Given the description of an element on the screen output the (x, y) to click on. 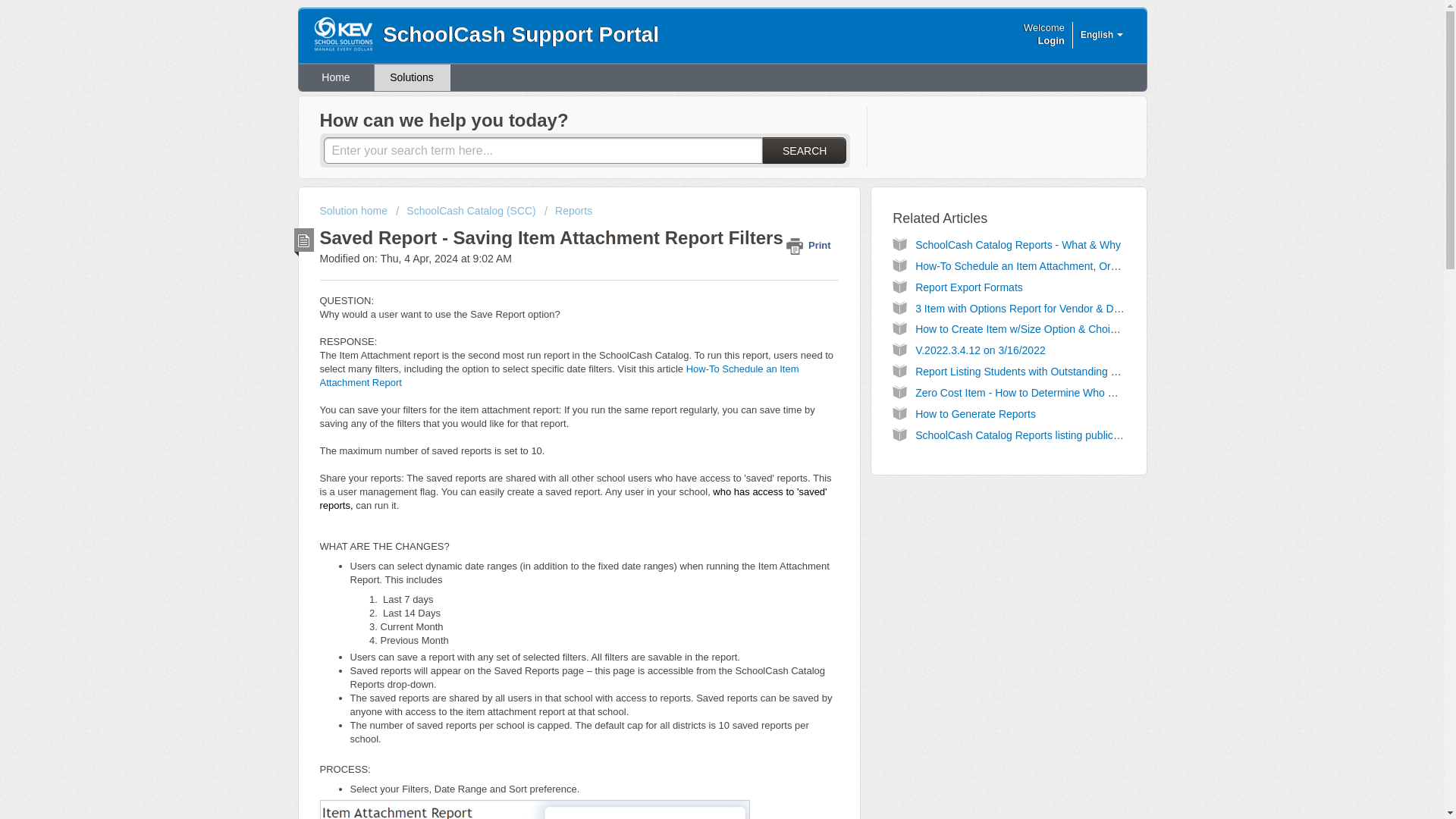
SEARCH (803, 150)
Solutions (411, 77)
Solution home (355, 210)
How to Generate Reports (975, 413)
Report Listing Students with Outstanding Fees (1024, 371)
Print (812, 244)
How-To Schedule an Item Attachment Report (559, 375)
Login (1050, 40)
Reports (568, 210)
How-To Schedule an Item Attachment, Order and Option Report (1065, 265)
Report Export Formats (969, 287)
Home (336, 77)
Print this Article (812, 244)
